Given the description of an element on the screen output the (x, y) to click on. 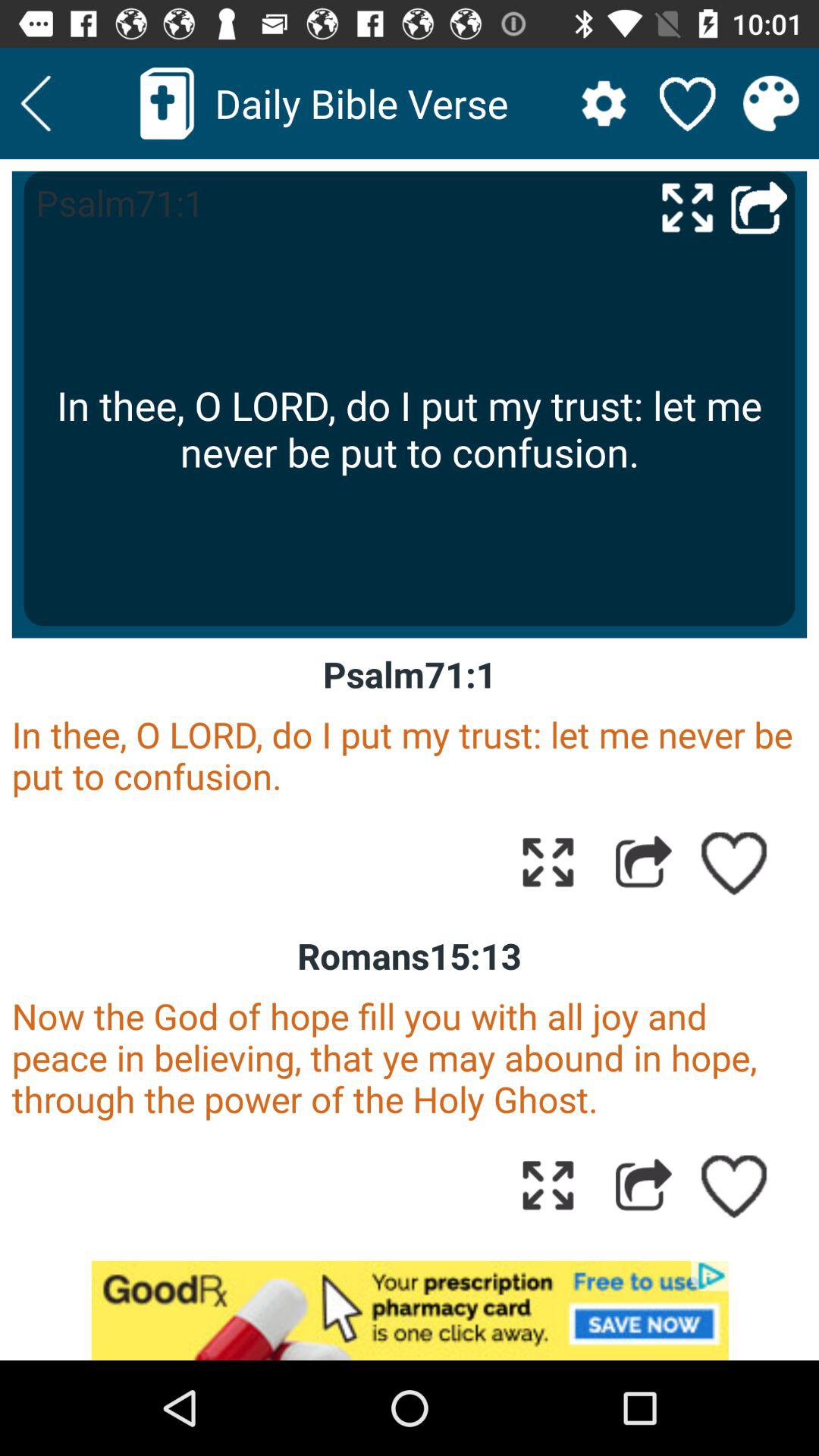
settin pega (603, 103)
